Given the description of an element on the screen output the (x, y) to click on. 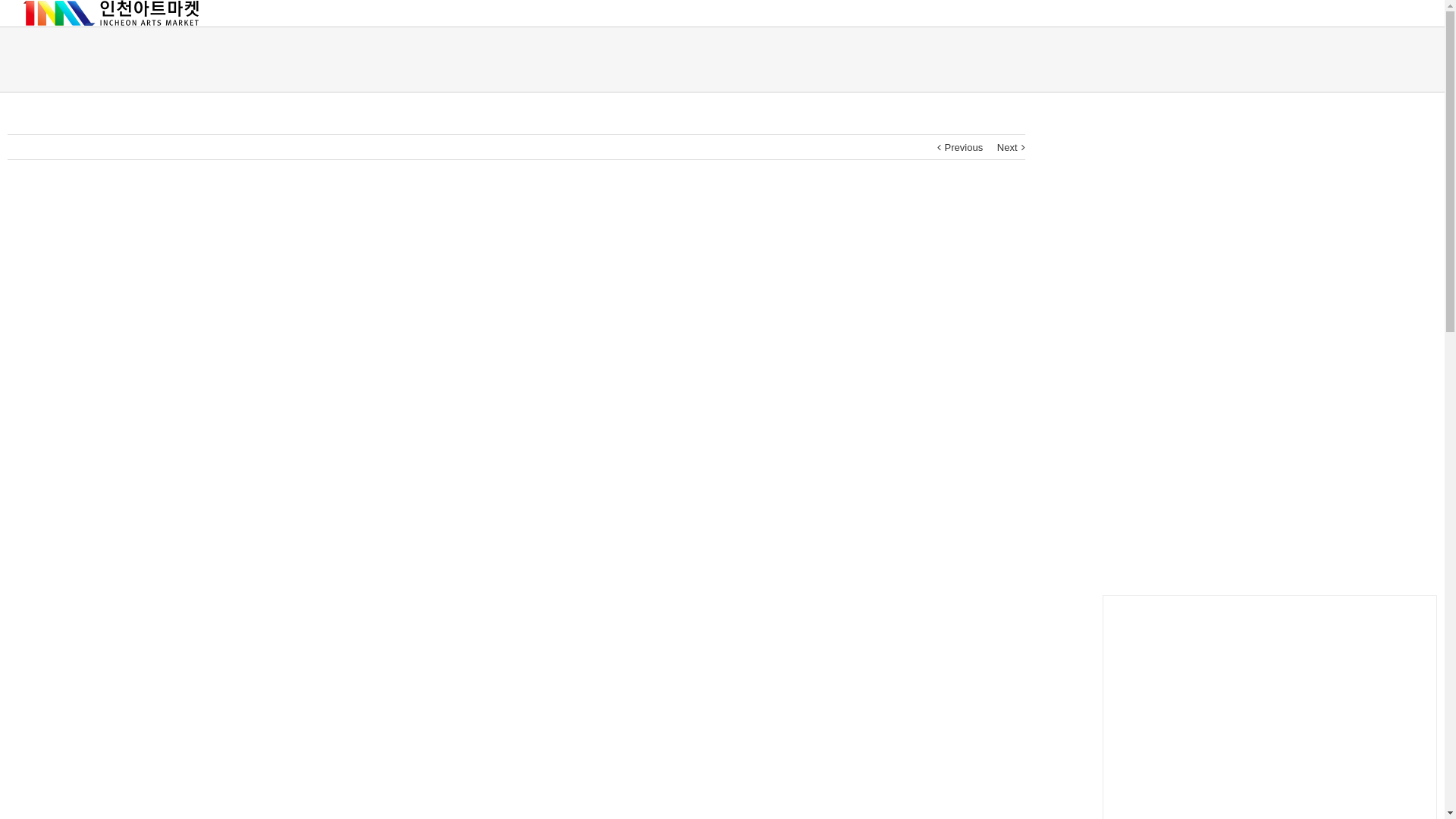
Next Element type: text (1007, 147)
Previous Element type: text (963, 147)
